Given the description of an element on the screen output the (x, y) to click on. 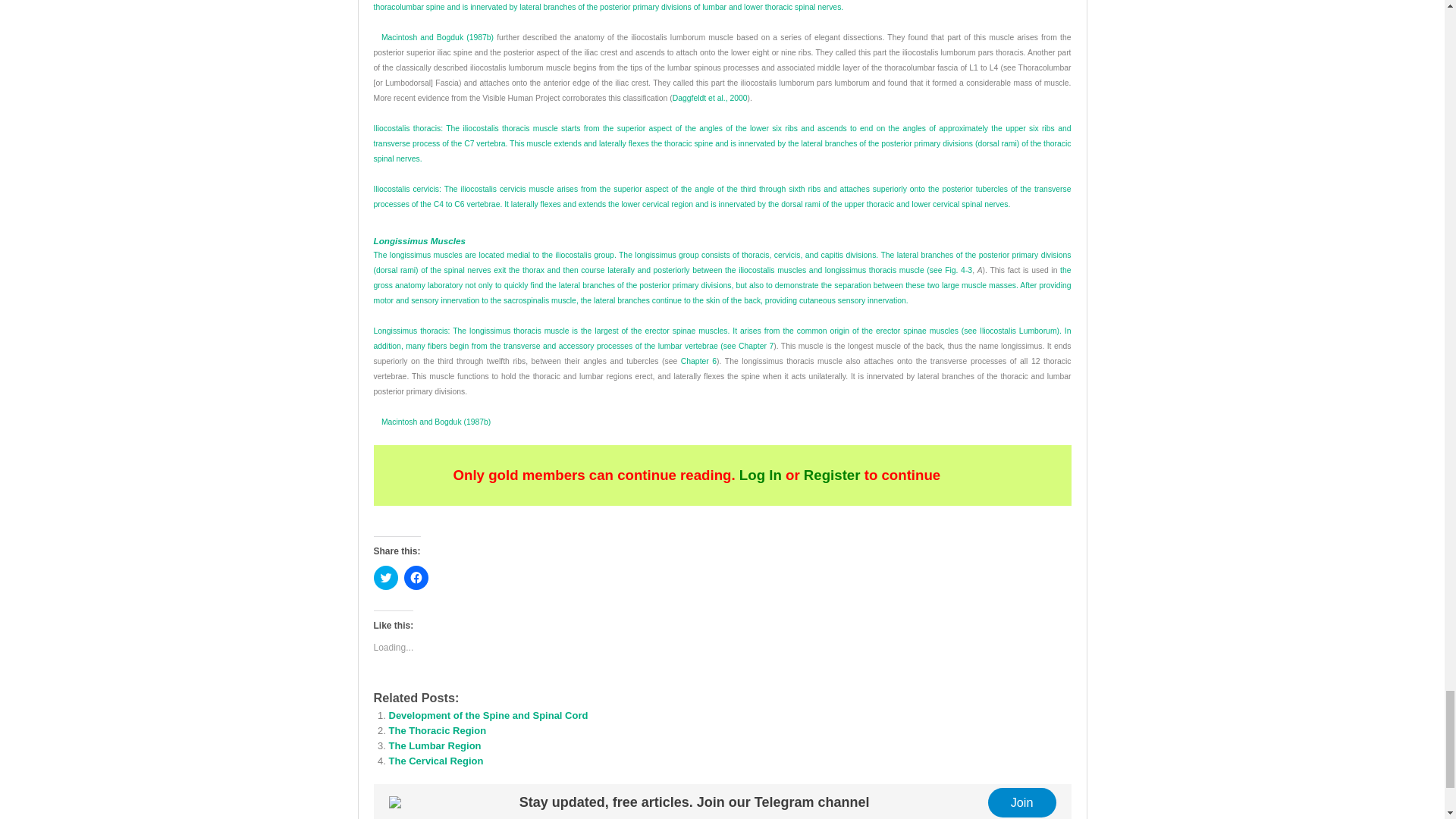
The Thoracic Region (437, 730)
Development of the Spine and Spinal Cord (488, 715)
The Cervical Region (435, 760)
Click to share on Facebook (415, 577)
The Lumbar Region (434, 745)
Click to share on Twitter (384, 577)
